Given the description of an element on the screen output the (x, y) to click on. 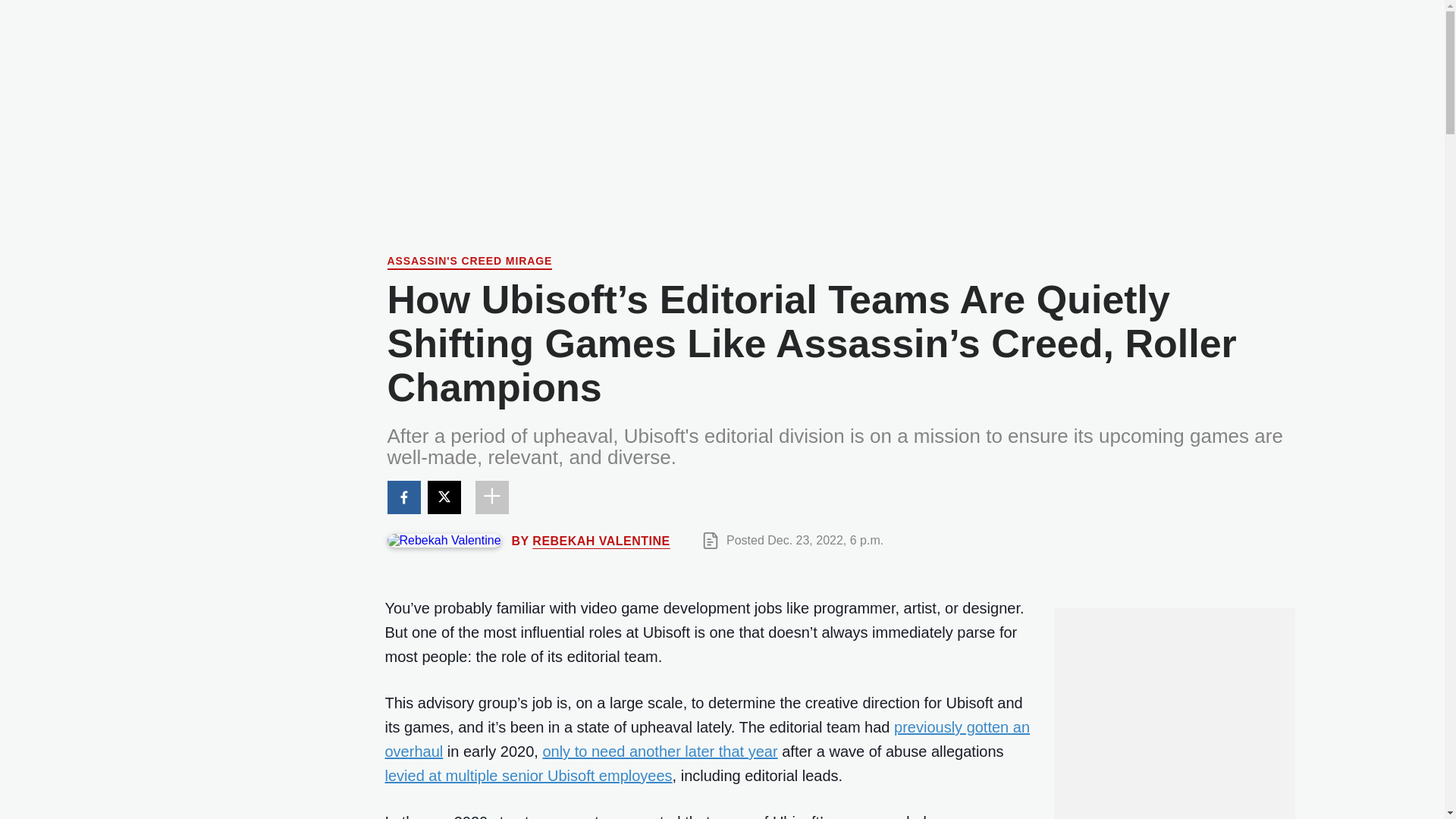
only to need another later that year (659, 751)
ASSASSIN'S CREED MIRAGE (469, 262)
levied at multiple senior Ubisoft employees (528, 775)
Assassin's Creed Mirage (469, 262)
previously gotten an overhaul (707, 739)
REBEKAH VALENTINE (600, 540)
